Given the description of an element on the screen output the (x, y) to click on. 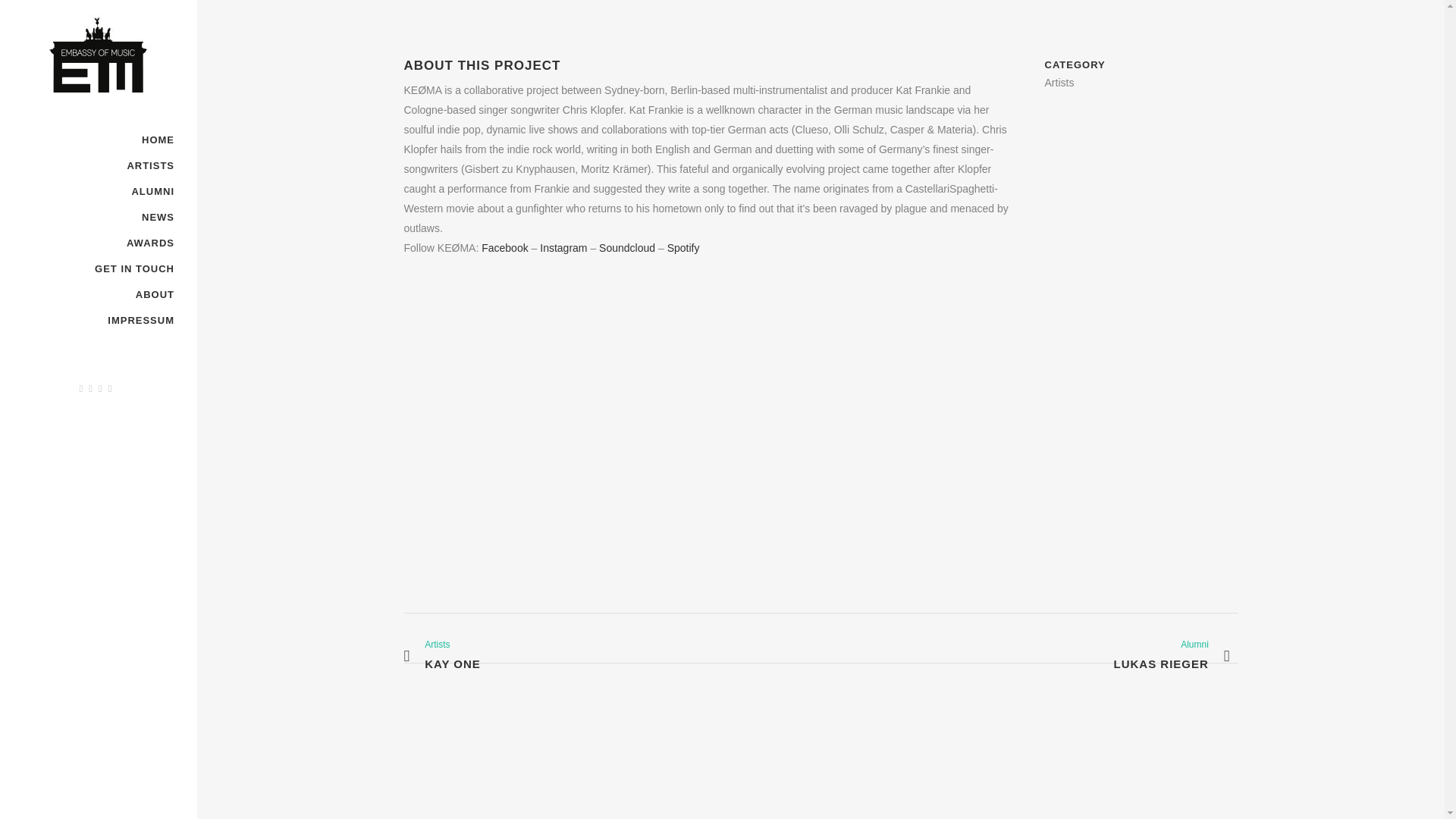
Spotify (683, 247)
GET IN TOUCH (1170, 656)
IMPRESSUM (98, 268)
ARTISTS (98, 320)
Instagram (98, 166)
ABOUT (563, 247)
Facebook (98, 294)
NEWS (504, 247)
AWARDS (98, 217)
ALUMNI (441, 656)
Soundcloud (98, 243)
HOME (98, 191)
